Given the description of an element on the screen output the (x, y) to click on. 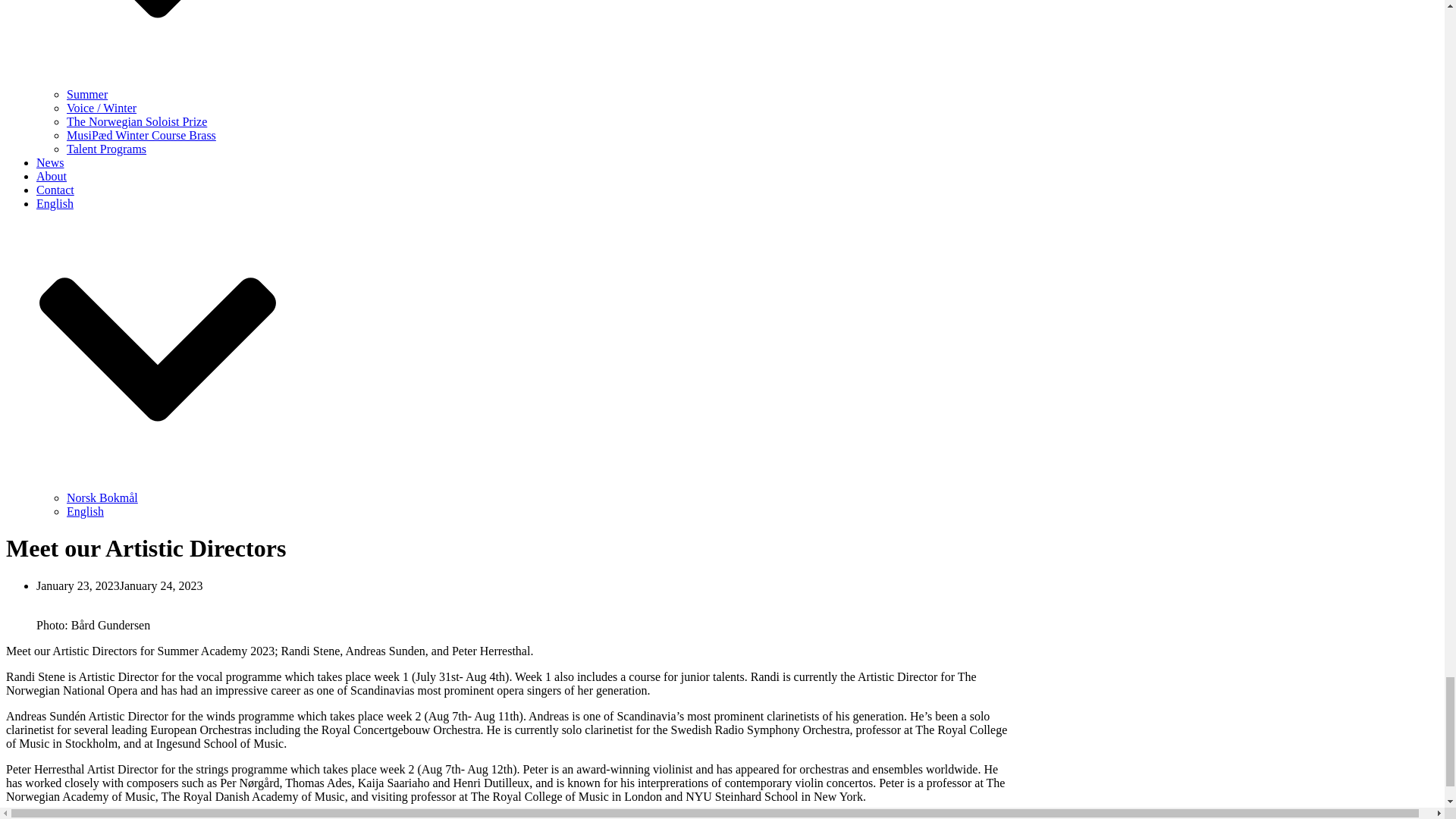
Contact (55, 189)
Summer (86, 93)
News (50, 162)
Talent Programs (106, 148)
Academies (157, 43)
The Norwegian Soloist Prize (136, 121)
English (84, 511)
apply (88, 817)
About (51, 175)
